Given the description of an element on the screen output the (x, y) to click on. 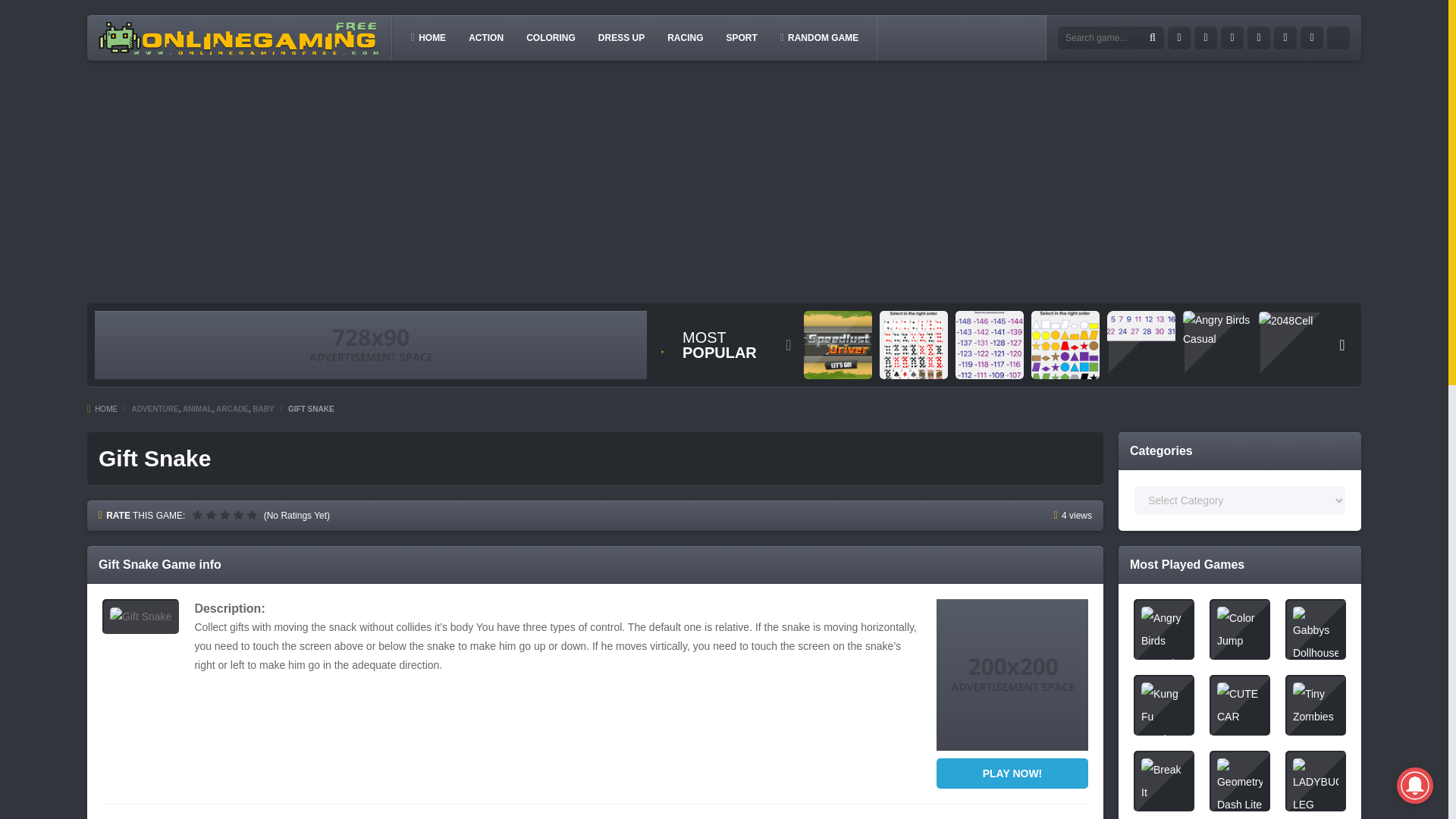
HOME (427, 37)
HOME (102, 408)
ACTION (486, 37)
Twitter (1205, 37)
RANDOM GAME (819, 37)
Instagram (1258, 37)
COLORING (550, 37)
Feed (1311, 37)
Pinterest (1285, 37)
